Given the description of an element on the screen output the (x, y) to click on. 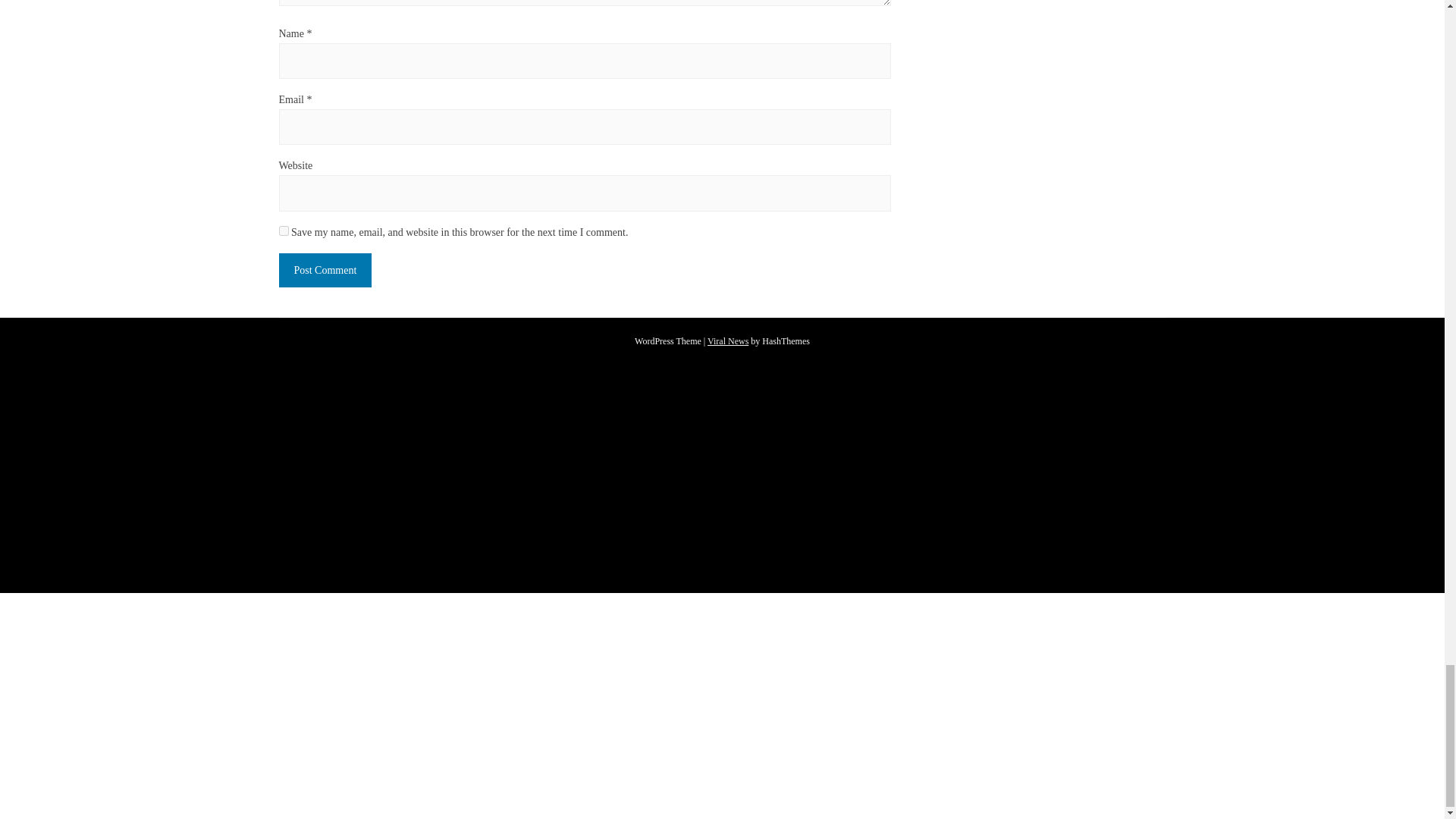
yes (283, 230)
Post Comment (325, 270)
Download Viral News (727, 340)
Post Comment (325, 270)
